Given the description of an element on the screen output the (x, y) to click on. 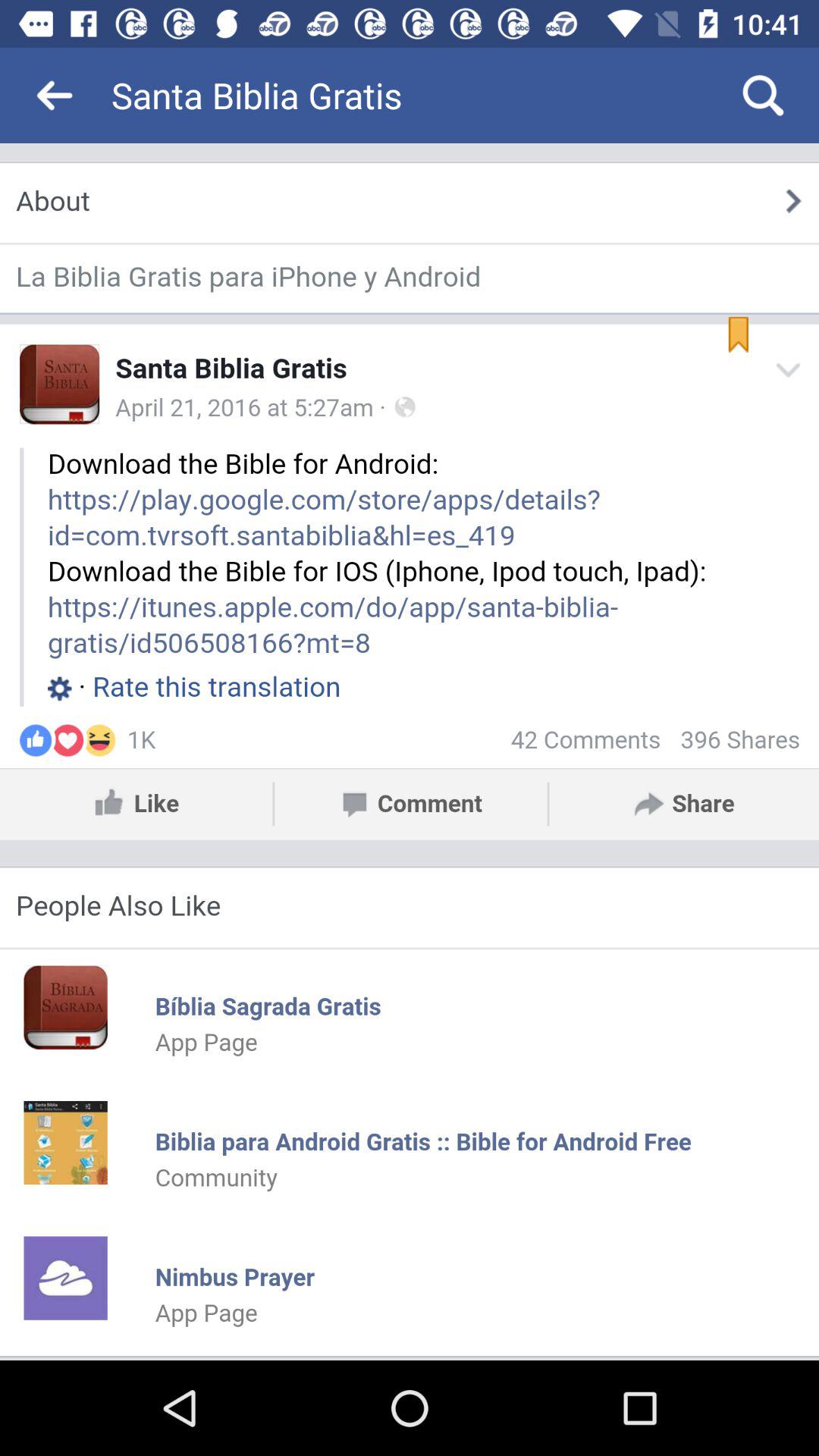
press the item at the top left corner (55, 95)
